Given the description of an element on the screen output the (x, y) to click on. 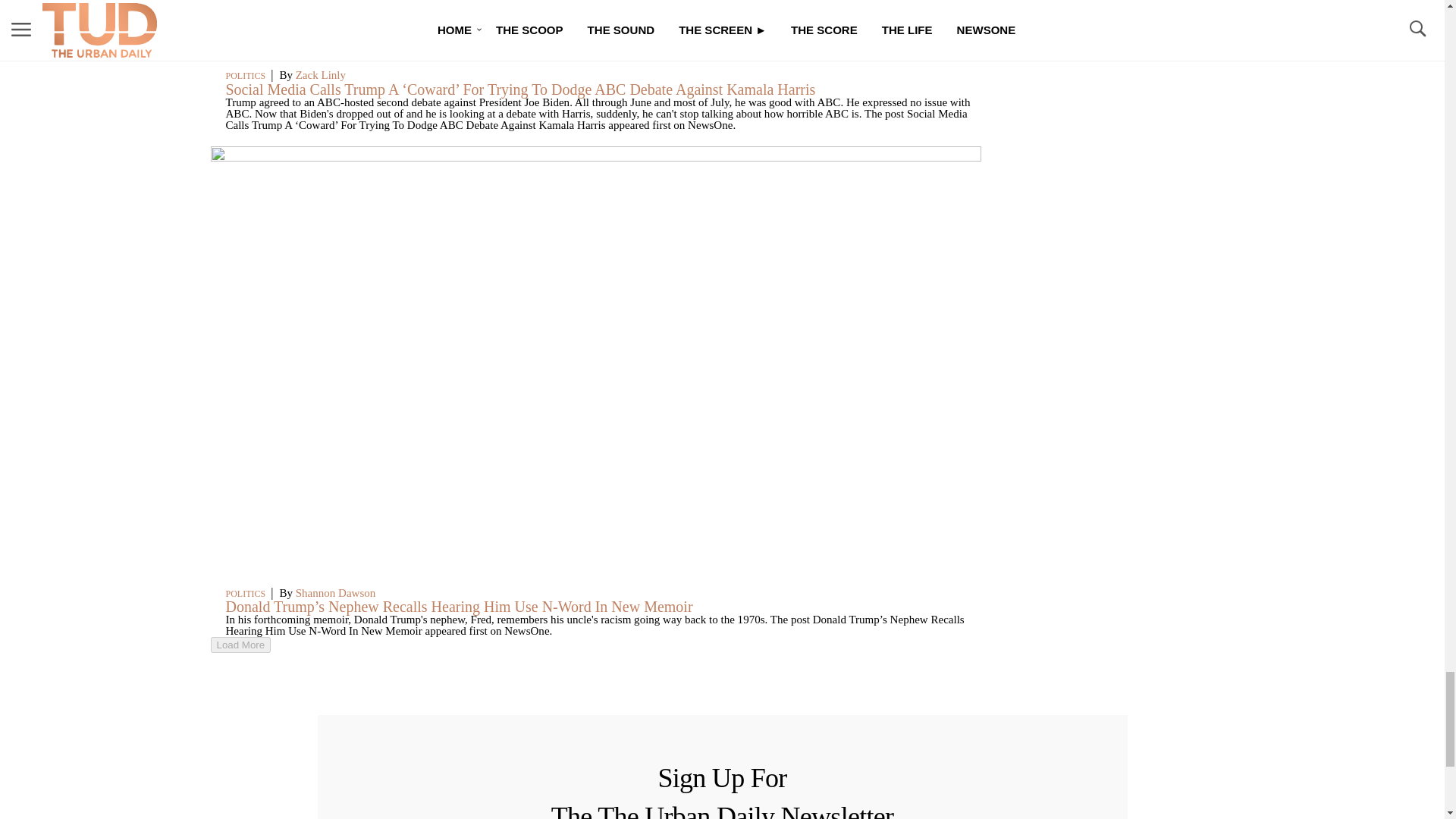
Load More (596, 644)
Load More (240, 644)
